Given the description of an element on the screen output the (x, y) to click on. 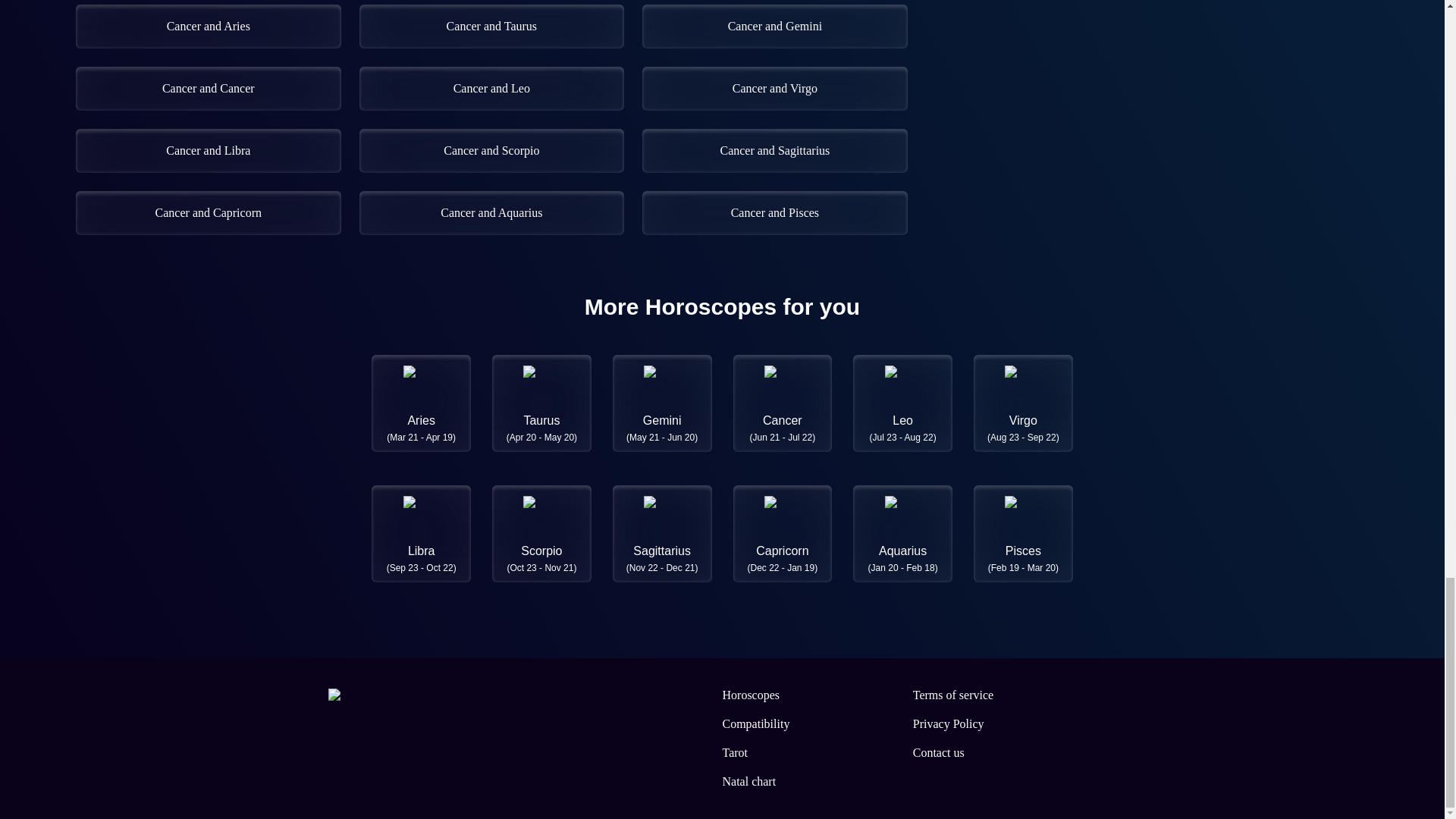
cancer and Cancer (207, 88)
cancer and Taurus (491, 26)
cancer and Virgo (774, 88)
cancer and Sagittarius (774, 150)
cancer and Leo (491, 88)
cancer and Capricorn (207, 212)
cancer and Aquarius (491, 212)
cancer and Libra (207, 150)
cancer and Gemini (774, 26)
cancer and Pisces (774, 212)
cancer and Aries (207, 26)
cancer and Scorpio (491, 150)
